Given the description of an element on the screen output the (x, y) to click on. 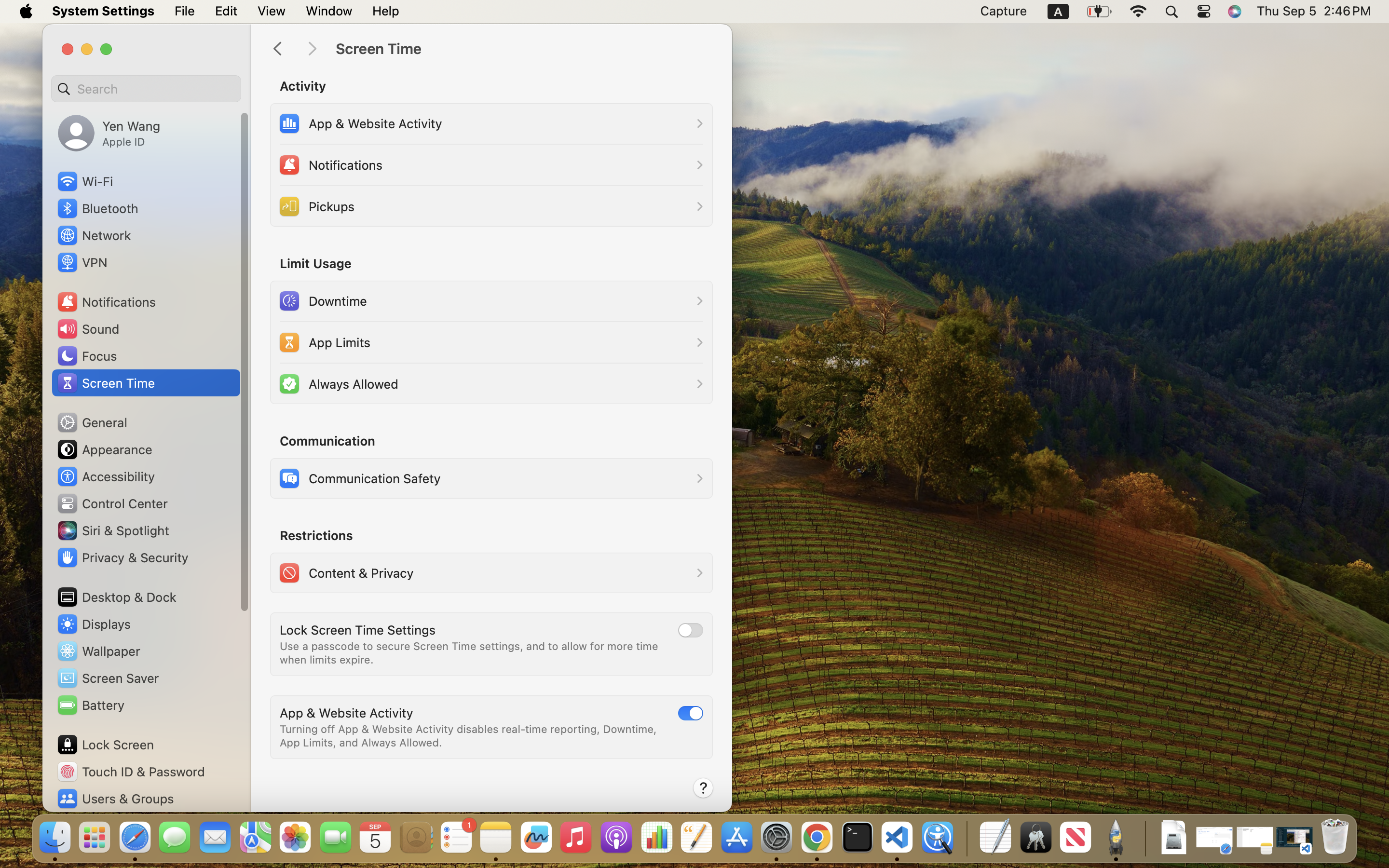
Privacy & Security Element type: AXStaticText (121, 557)
Bluetooth Element type: AXStaticText (96, 207)
Use a passcode to secure Screen Time settings, and to allow for more time when limits expire. Element type: AXStaticText (470, 652)
Yen Wang, Apple ID Element type: AXStaticText (108, 132)
